Given the description of an element on the screen output the (x, y) to click on. 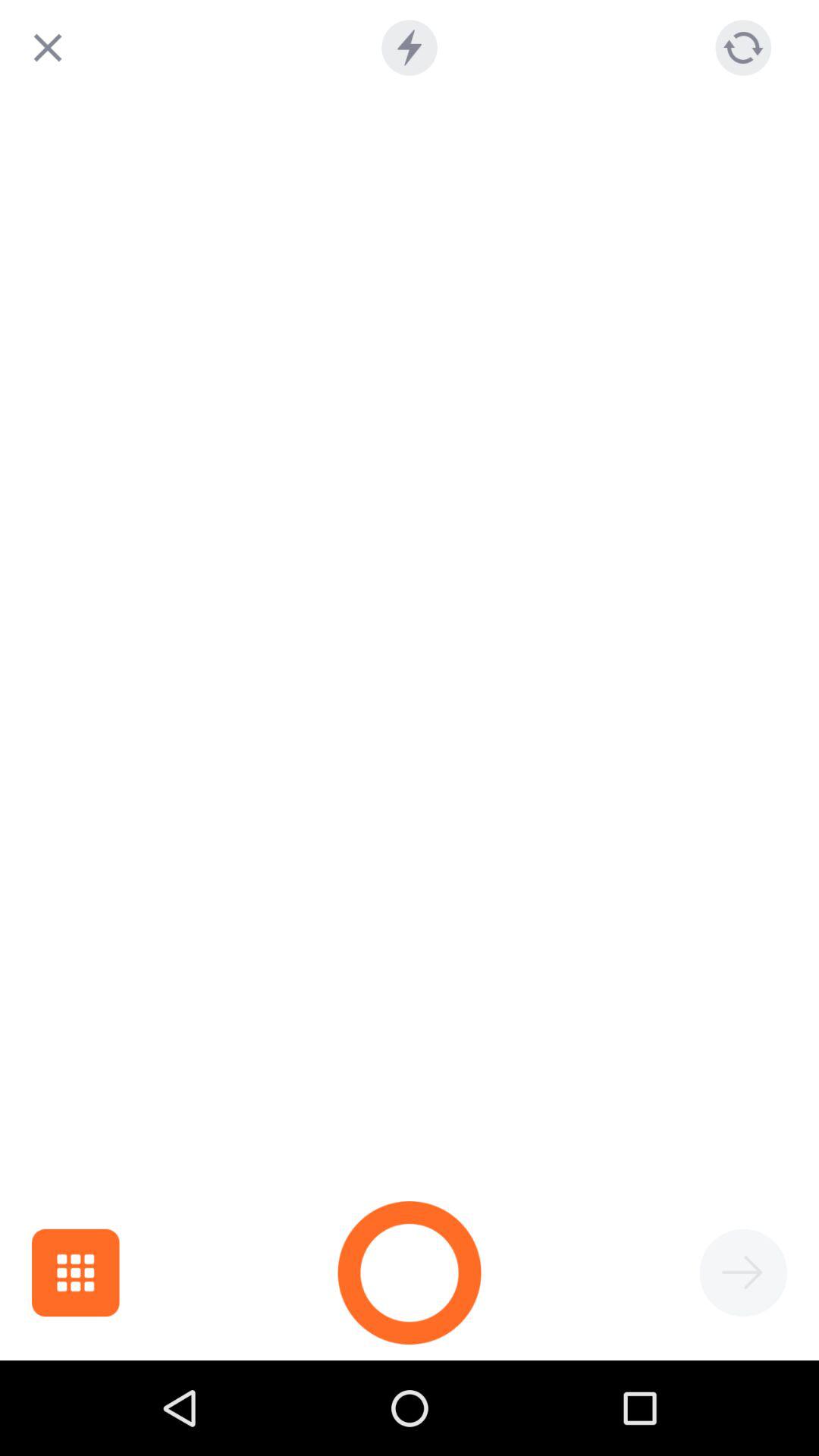
press active page button (743, 1272)
